Given the description of an element on the screen output the (x, y) to click on. 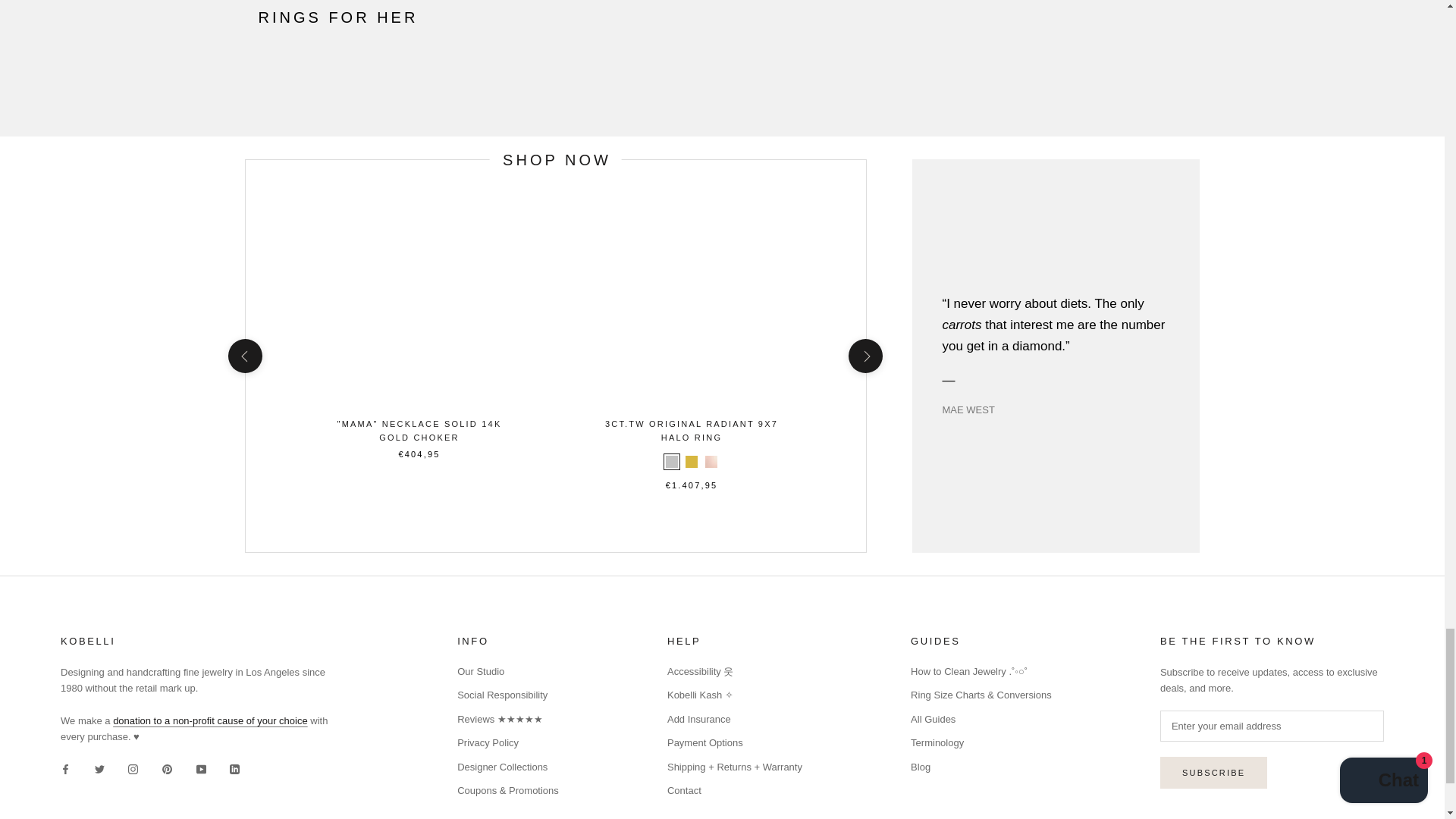
Your Decision. Our Donation. (210, 720)
rose-gold (710, 461)
white-gold (671, 461)
yellow-gold (691, 461)
